Given the description of an element on the screen output the (x, y) to click on. 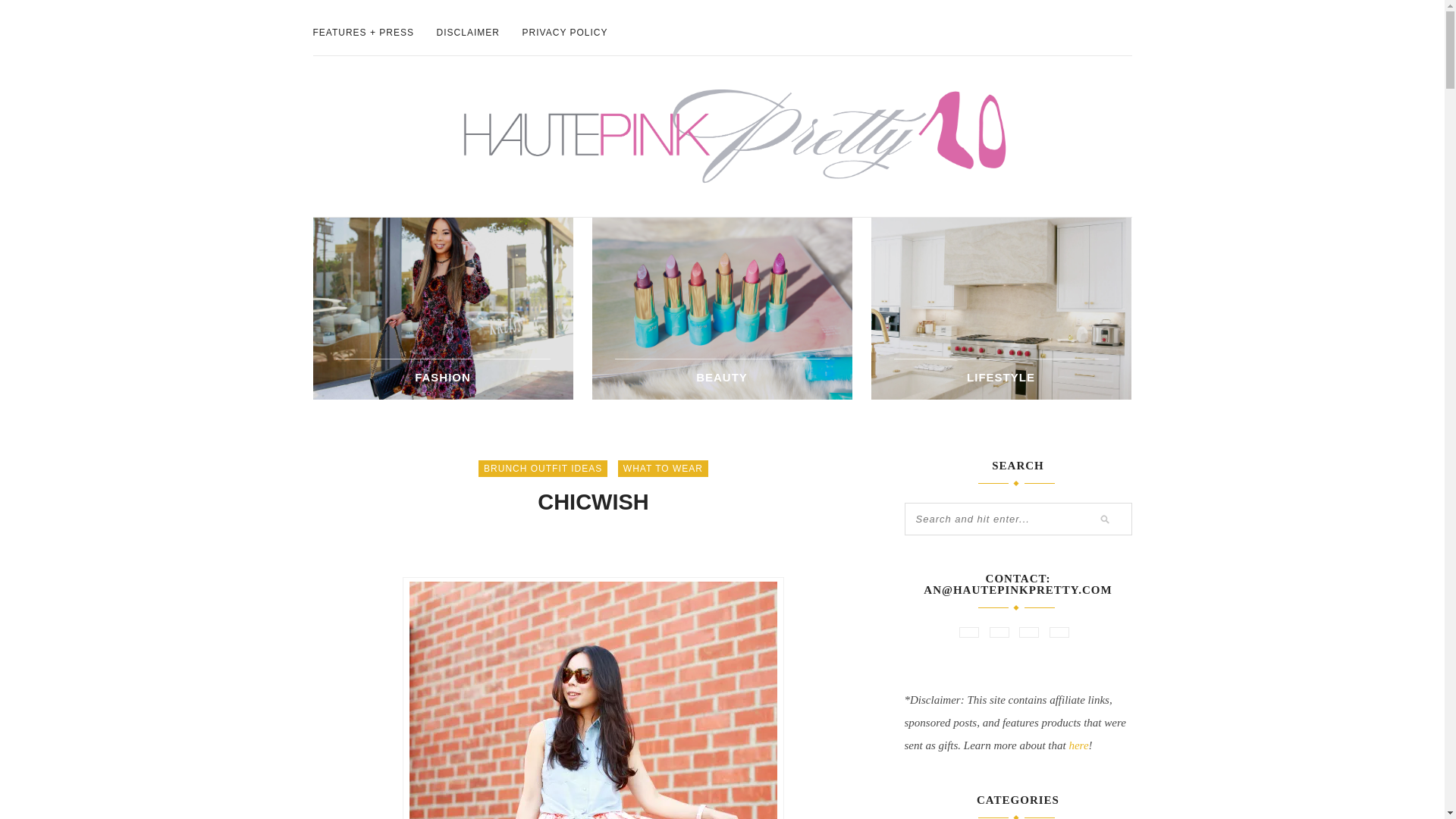
DISCLAIMER (467, 32)
BRUNCH OUTFIT IDEAS (543, 468)
BEAUTY (721, 377)
LIFESTYLE (1000, 377)
WHAT TO WEAR (662, 468)
PRIVACY POLICY (565, 32)
FASHION (442, 377)
